Given the description of an element on the screen output the (x, y) to click on. 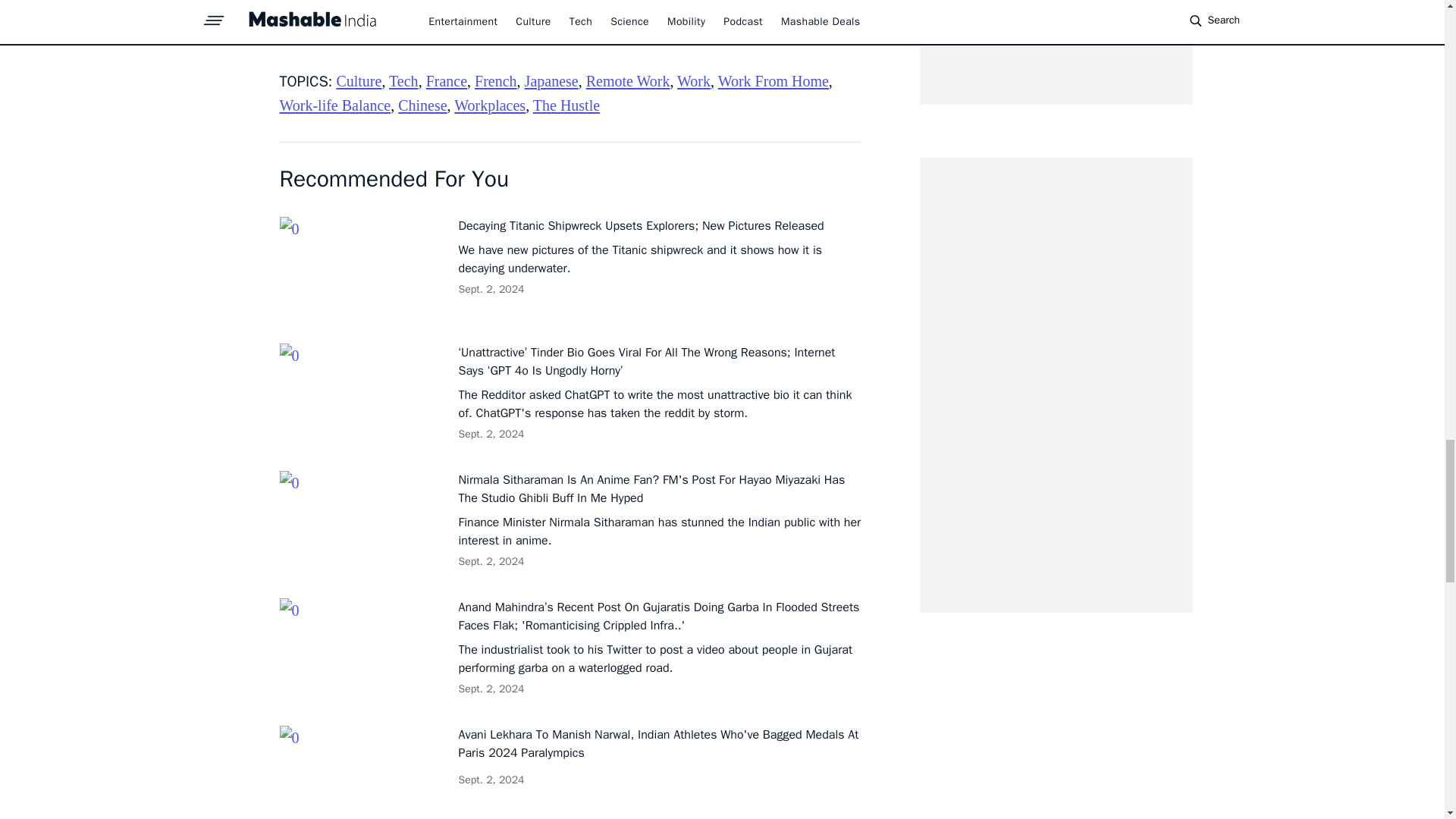
Work-life Balance (334, 105)
Culture (358, 80)
Workplaces (489, 105)
Work (693, 80)
Work From Home (772, 80)
Japanese (551, 80)
French (495, 80)
Remote Work (627, 80)
Chinese (421, 105)
France (446, 80)
